Given the description of an element on the screen output the (x, y) to click on. 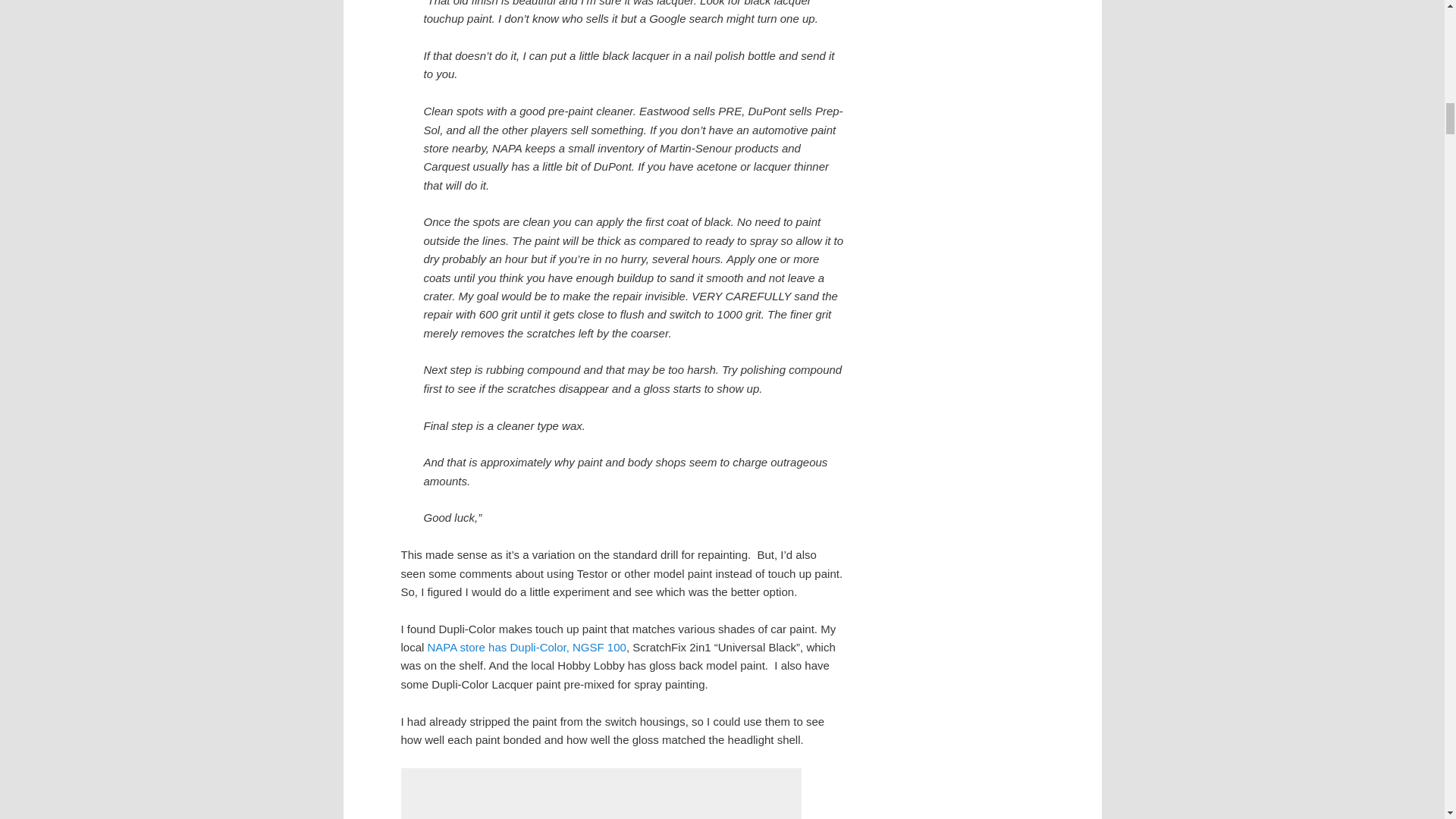
NAPA store has Dupli-Color, NGSF 100 (527, 646)
